Given the description of an element on the screen output the (x, y) to click on. 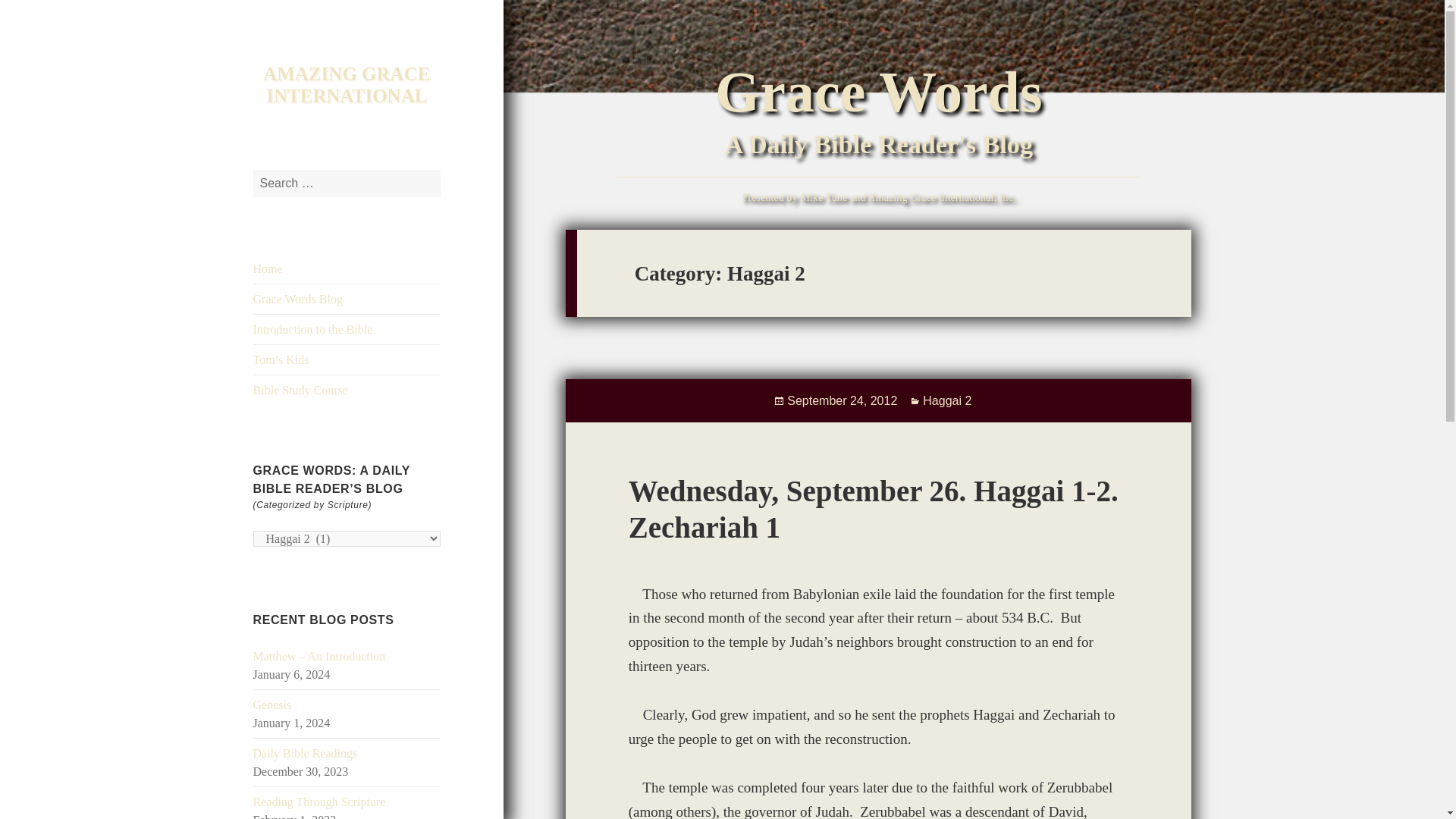
Daily Bible Readings (305, 753)
Genesis (272, 704)
September 24, 2012 (841, 400)
Bible Study Course (300, 390)
AMAZING GRACE INTERNATIONAL (346, 85)
Grace Words Blog (297, 298)
Wednesday, September 26. Haggai 1-2. Zechariah 1 (873, 509)
